Given the description of an element on the screen output the (x, y) to click on. 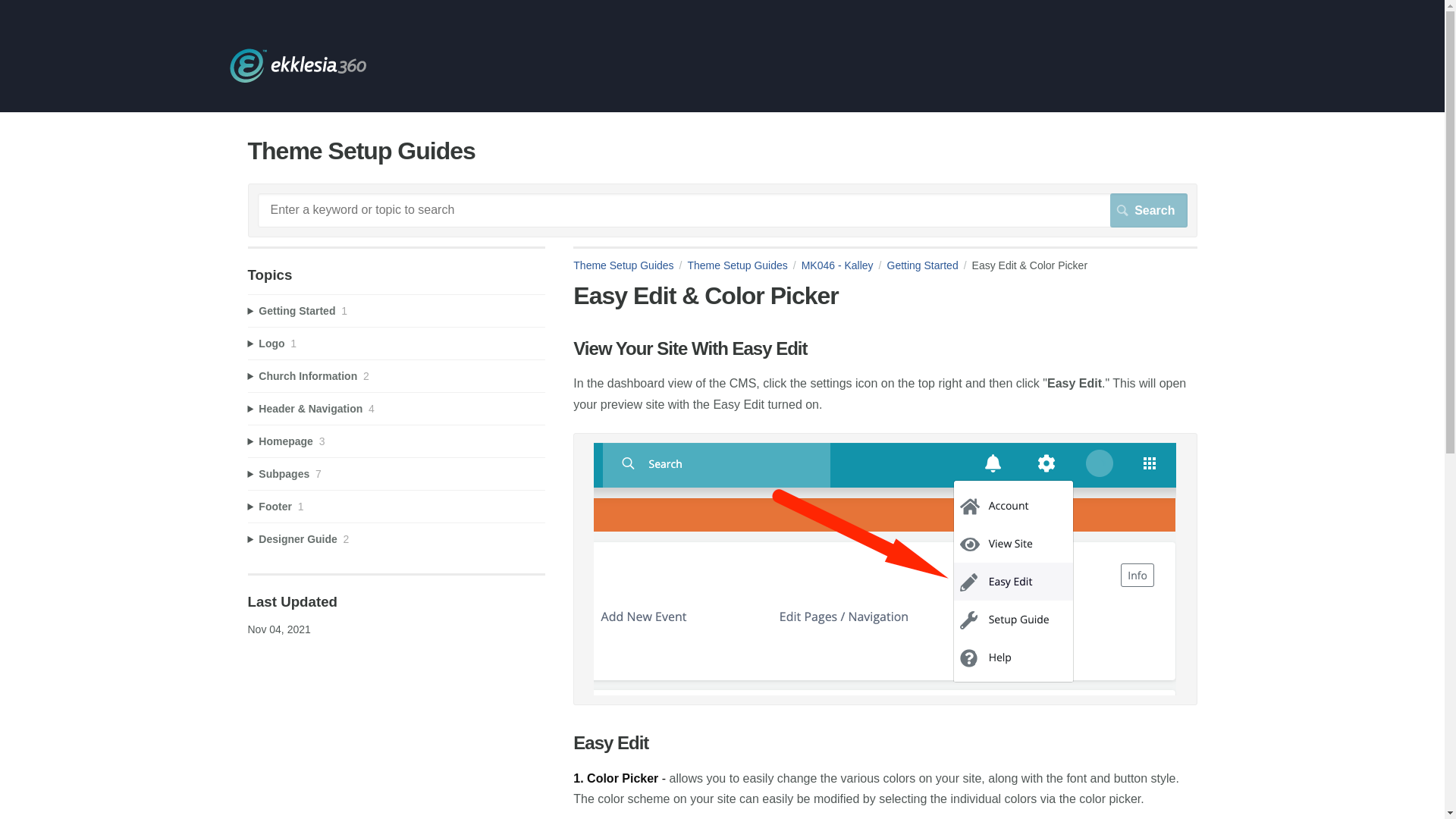
Getting Started (929, 265)
Search (1147, 209)
Theme Setup Guides (743, 265)
Theme Setup Guides (630, 265)
Theme Setup Guides (296, 78)
Search (1147, 209)
MK046 - Kalley (844, 265)
Search (1147, 209)
